Given the description of an element on the screen output the (x, y) to click on. 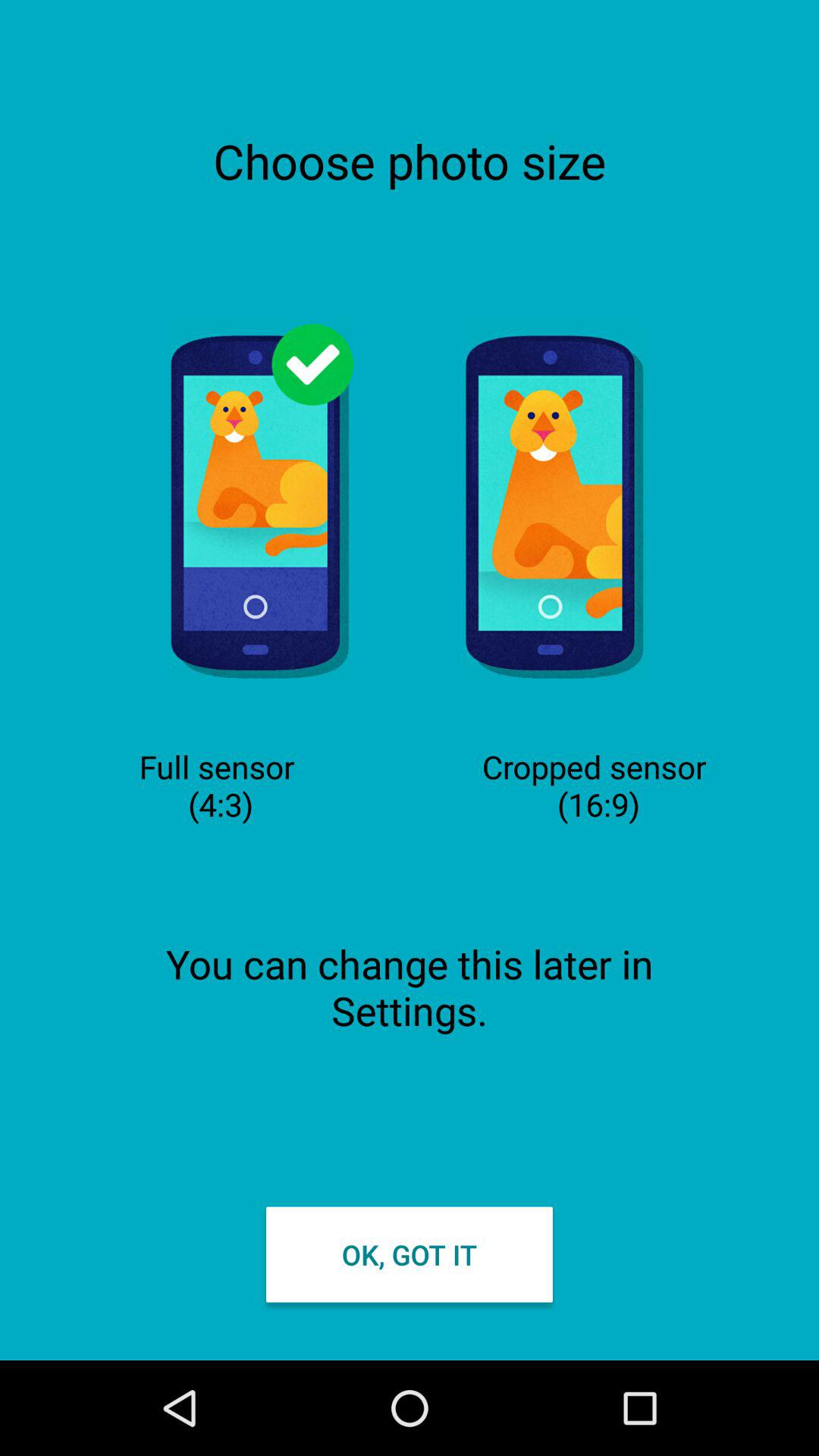
tap the ok, got it item (409, 1254)
